Given the description of an element on the screen output the (x, y) to click on. 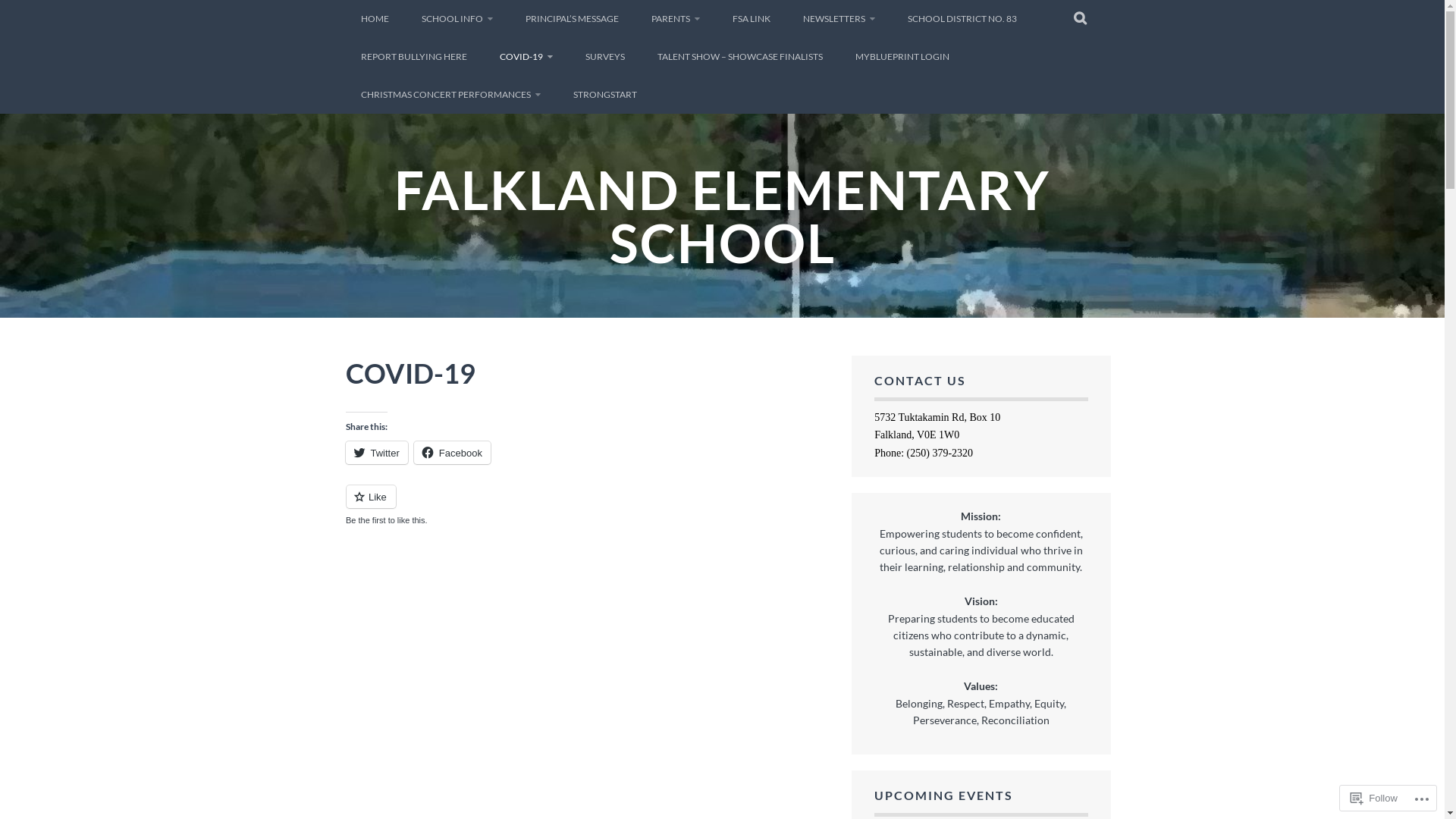
SCHOOL INFO Element type: text (457, 18)
FSA LINK Element type: text (751, 18)
COVID-19 Element type: text (525, 56)
CHRISTMAS CONCERT PERFORMANCES Element type: text (450, 94)
Twitter Element type: text (376, 452)
MYBLUEPRINT LOGIN Element type: text (902, 56)
SCHOOL DISTRICT NO. 83 Element type: text (961, 18)
Like or Reblog Element type: hover (586, 505)
HOME Element type: text (374, 18)
Facebook Element type: text (452, 452)
SURVEYS Element type: text (605, 56)
NEWSLETTERS Element type: text (838, 18)
STRONGSTART Element type: text (605, 94)
REPORT BULLYING HERE Element type: text (413, 56)
Follow Element type: text (1373, 797)
PARENTS Element type: text (674, 18)
FALKLAND ELEMENTARY SCHOOL Element type: text (722, 215)
